Given the description of an element on the screen output the (x, y) to click on. 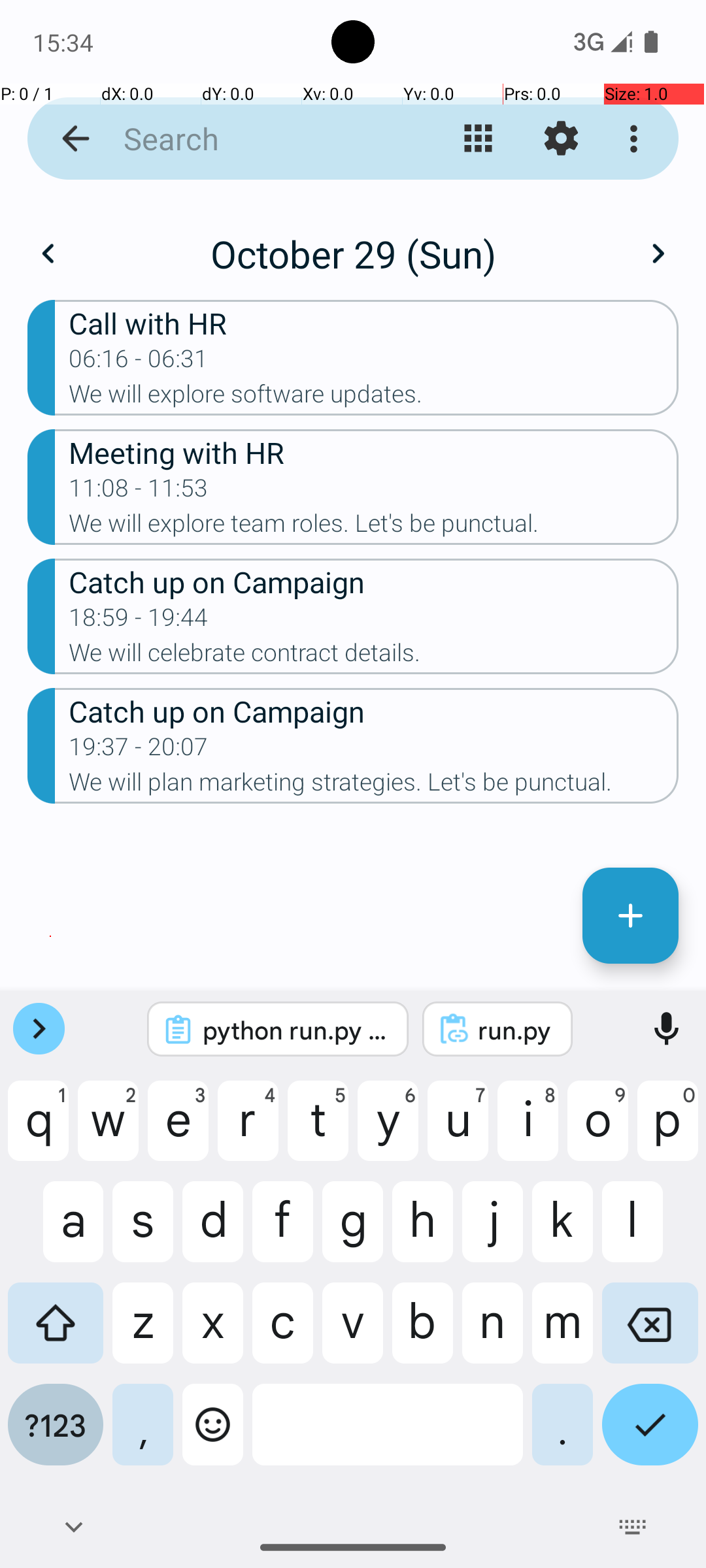
October 29 (Sun) Element type: android.widget.TextView (352, 253)
06:16 - 06:31 Element type: android.widget.TextView (137, 362)
We will explore software updates. Element type: android.widget.TextView (373, 397)
11:08 - 11:53 Element type: android.widget.TextView (137, 491)
We will explore team roles. Let's be punctual. Element type: android.widget.TextView (373, 526)
18:59 - 19:44 Element type: android.widget.TextView (137, 620)
We will celebrate contract details. Element type: android.widget.TextView (373, 656)
19:37 - 20:07 Element type: android.widget.TextView (137, 750)
We will plan marketing strategies. Let's be punctual. Element type: android.widget.TextView (373, 785)
python run.py \   --suite_family=android_world \   --agent_name=t3a_gpt4 \   --perform_emulator_setup \   --tasks=ContactsAddContact,ClockStopWatchRunning \  # Optional: Just run on a subset. Element type: android.widget.TextView (294, 1029)
run.py Element type: android.widget.TextView (514, 1029)
